Given the description of an element on the screen output the (x, y) to click on. 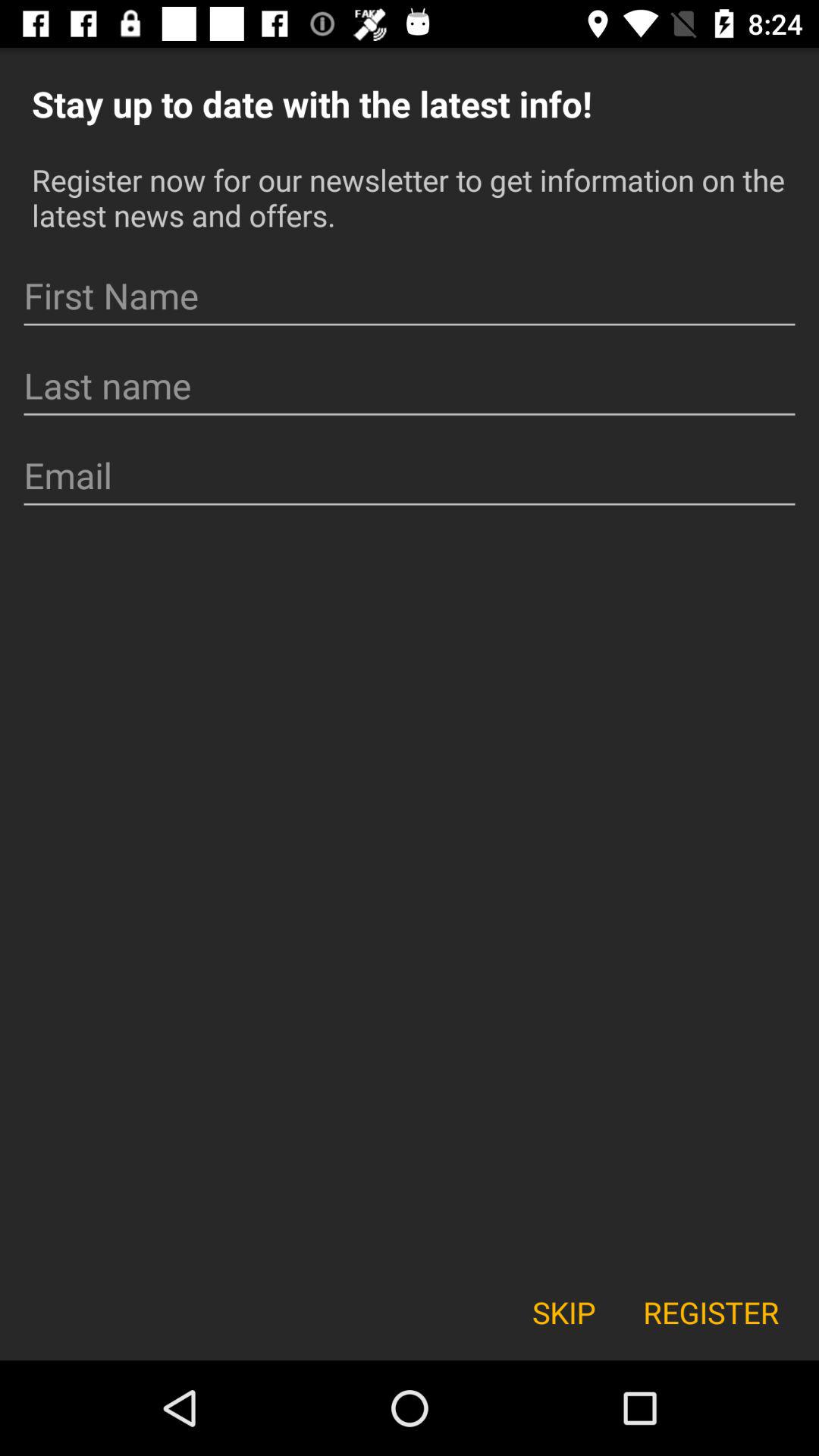
last name entry field (409, 386)
